Given the description of an element on the screen output the (x, y) to click on. 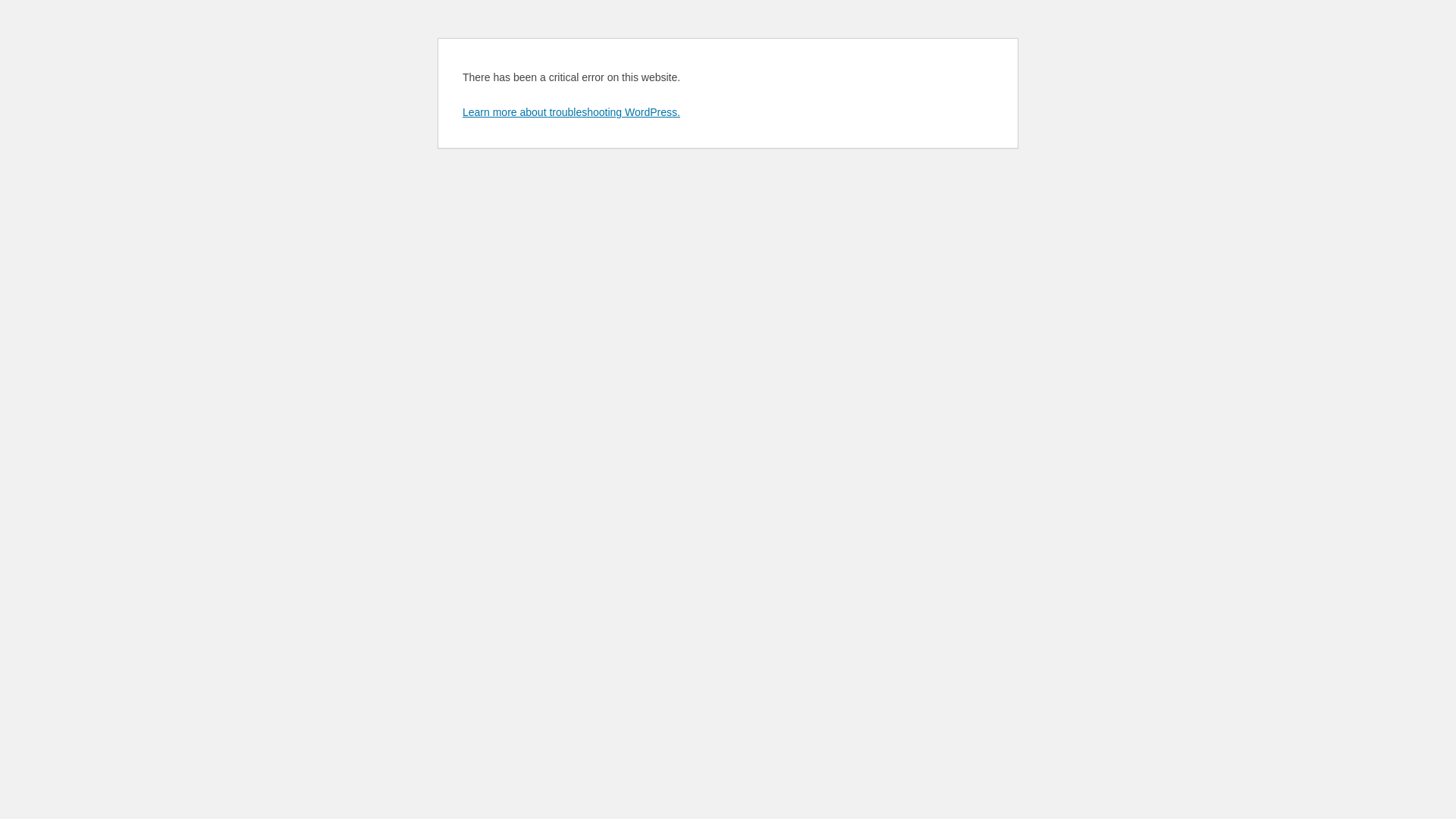
Learn more about troubleshooting WordPress. Element type: text (571, 112)
